Given the description of an element on the screen output the (x, y) to click on. 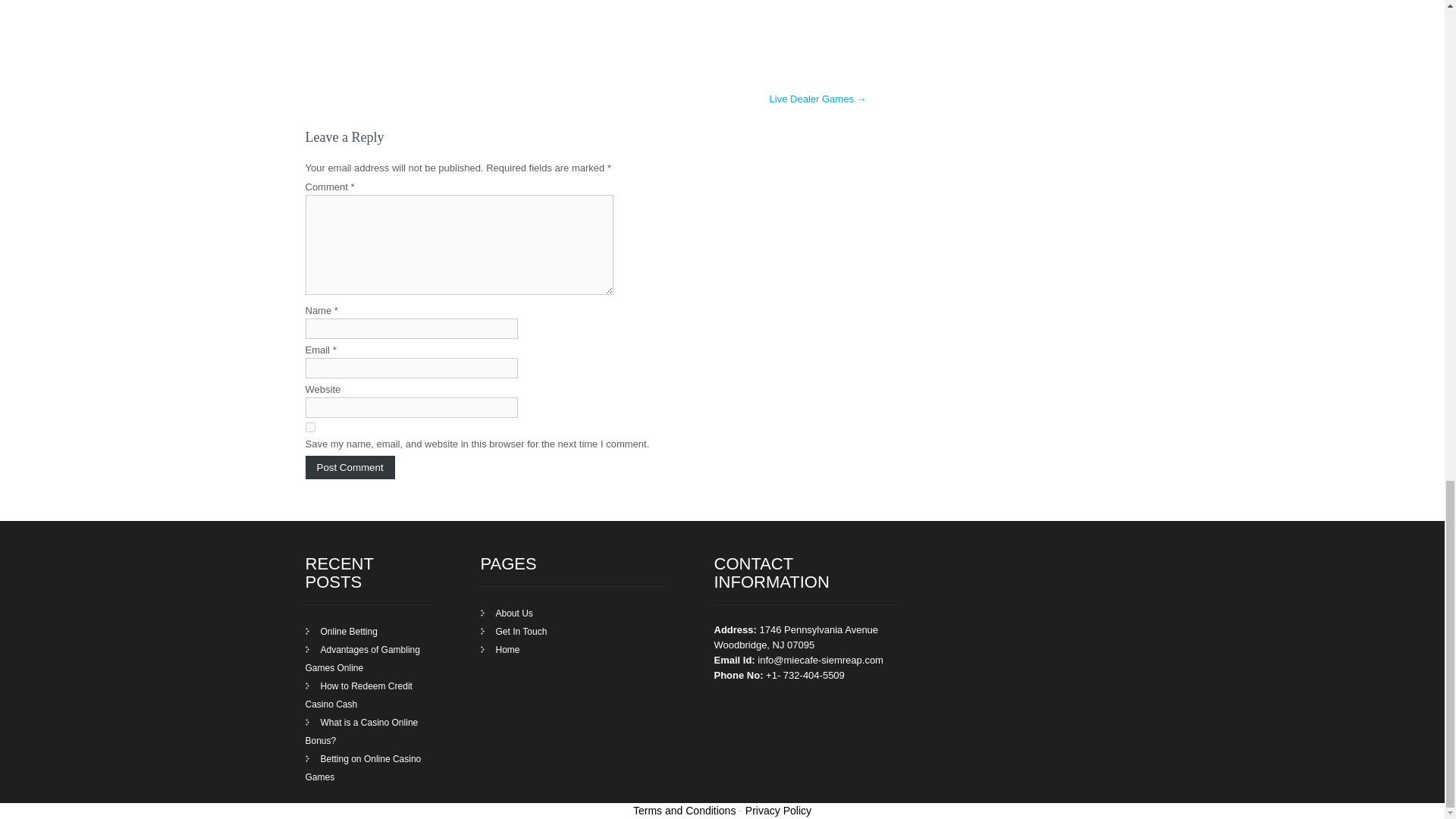
Get In Touch (513, 631)
About Us (506, 613)
Online Betting (340, 631)
YouTube video player (585, 26)
Post Comment (349, 467)
Home (499, 649)
Post Comment (349, 467)
How to Redeem Credit Casino Cash (358, 695)
Terms and Conditions (684, 810)
yes (309, 427)
Privacy Policy (777, 810)
What is a Casino Online Bonus? (360, 731)
Advantages of Gambling Games Online (361, 658)
Betting on Online Casino Games (362, 767)
